Given the description of an element on the screen output the (x, y) to click on. 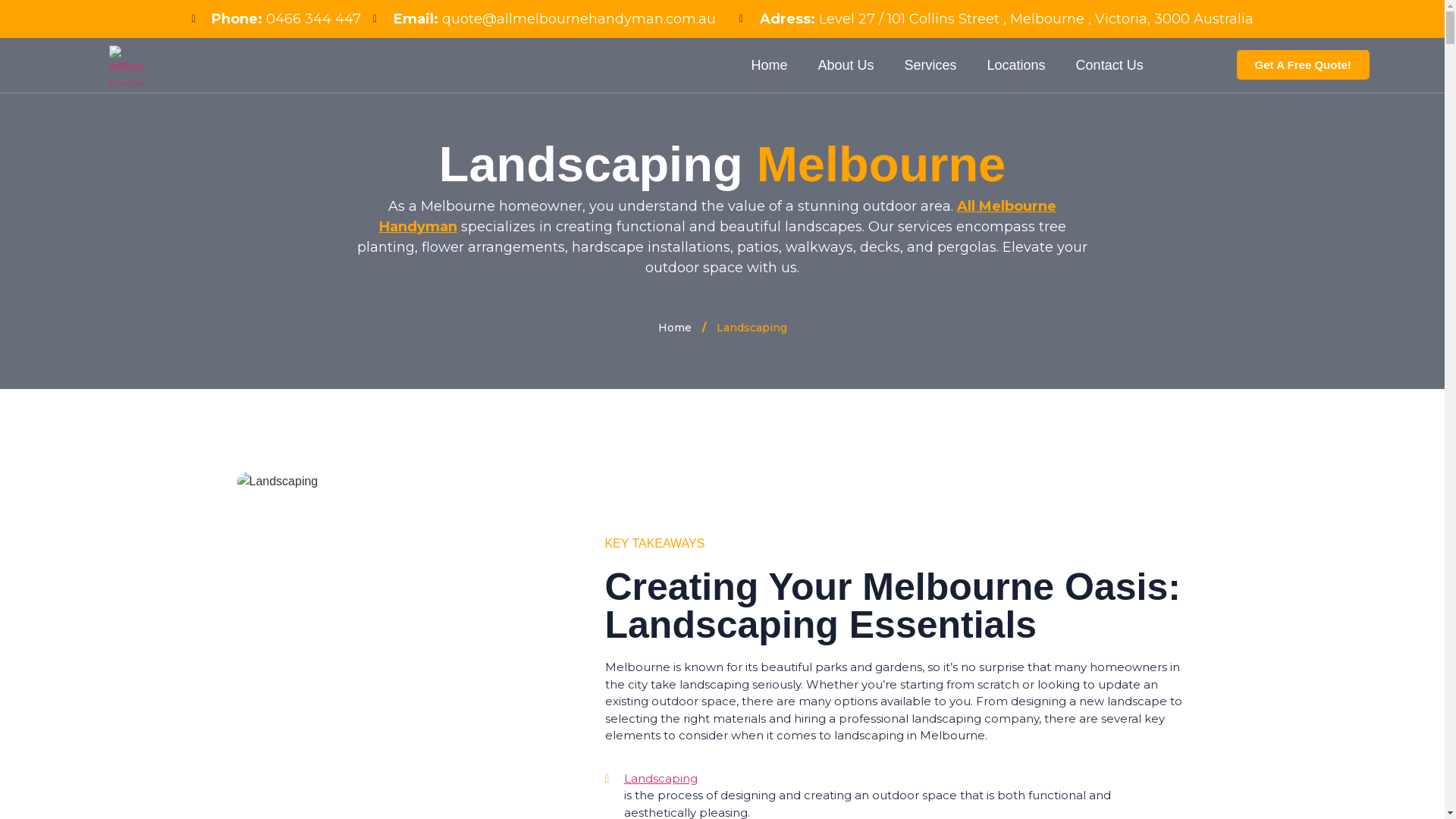
Home Element type: text (674, 327)
Get A Free Quote! Element type: text (1302, 64)
Landscaping Element type: text (903, 778)
Contact Us Element type: text (1109, 64)
All Melbourne Handyman Element type: text (718, 216)
Phone: 0466 344 447 Element type: text (275, 19)
Email: quote@allmelbournehandyman.com.au Element type: text (544, 19)
About Us Element type: text (845, 64)
Services Element type: text (930, 64)
Locations Element type: text (1016, 64)
Home Element type: text (768, 64)
